Given the description of an element on the screen output the (x, y) to click on. 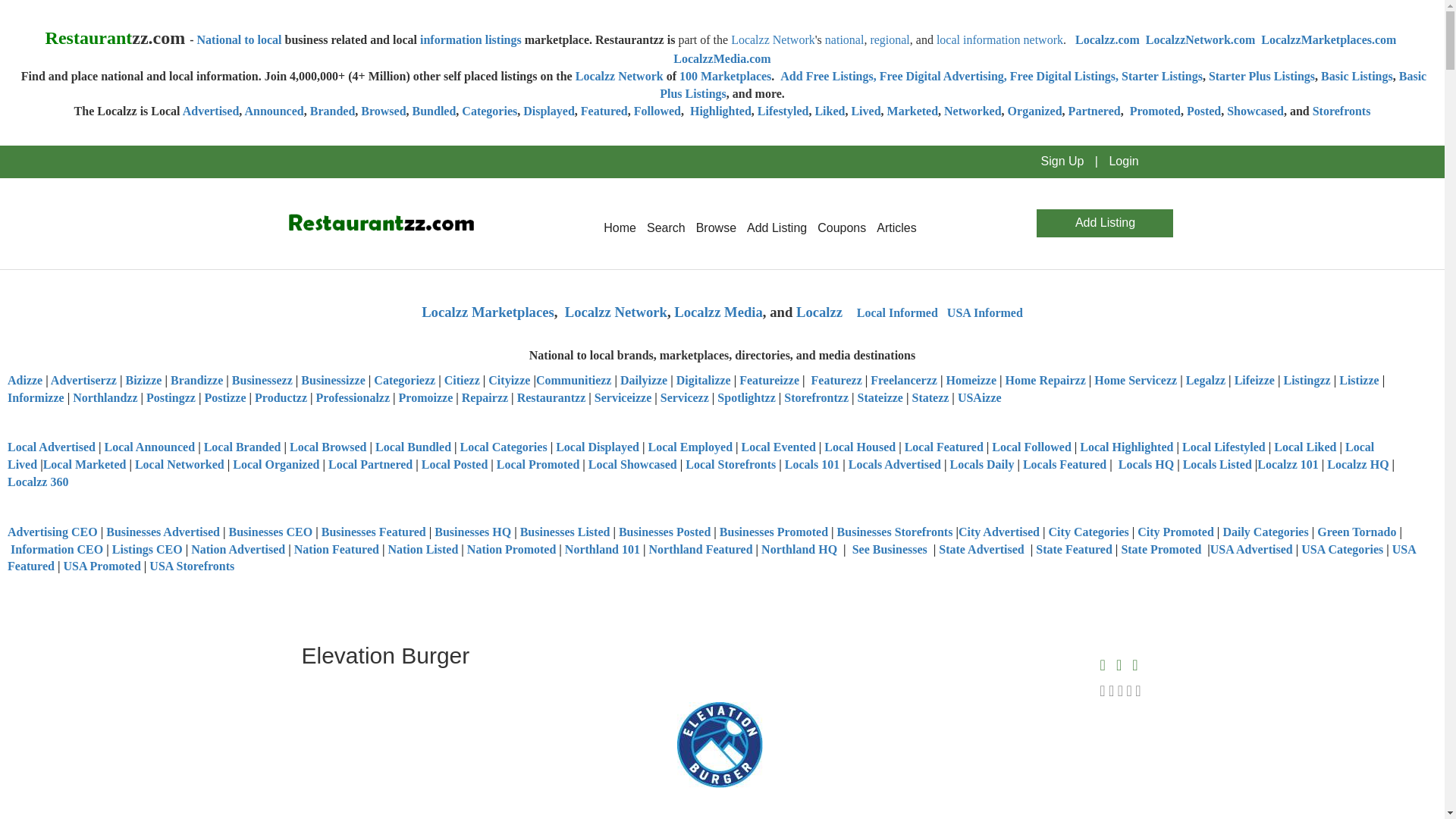
Partnered (1094, 110)
Lifestyled (783, 110)
Liked (828, 110)
local information network (999, 39)
Localzz.com (1107, 39)
Announced (273, 110)
Featured (603, 110)
Starter Listings (1161, 75)
Promoted (1154, 110)
Localzz Network (772, 39)
Free Digital Advertising, (944, 75)
Storefronts (1342, 110)
 Highlighted (719, 110)
Add Free Listings, (829, 75)
information listings (470, 39)
